Given the description of an element on the screen output the (x, y) to click on. 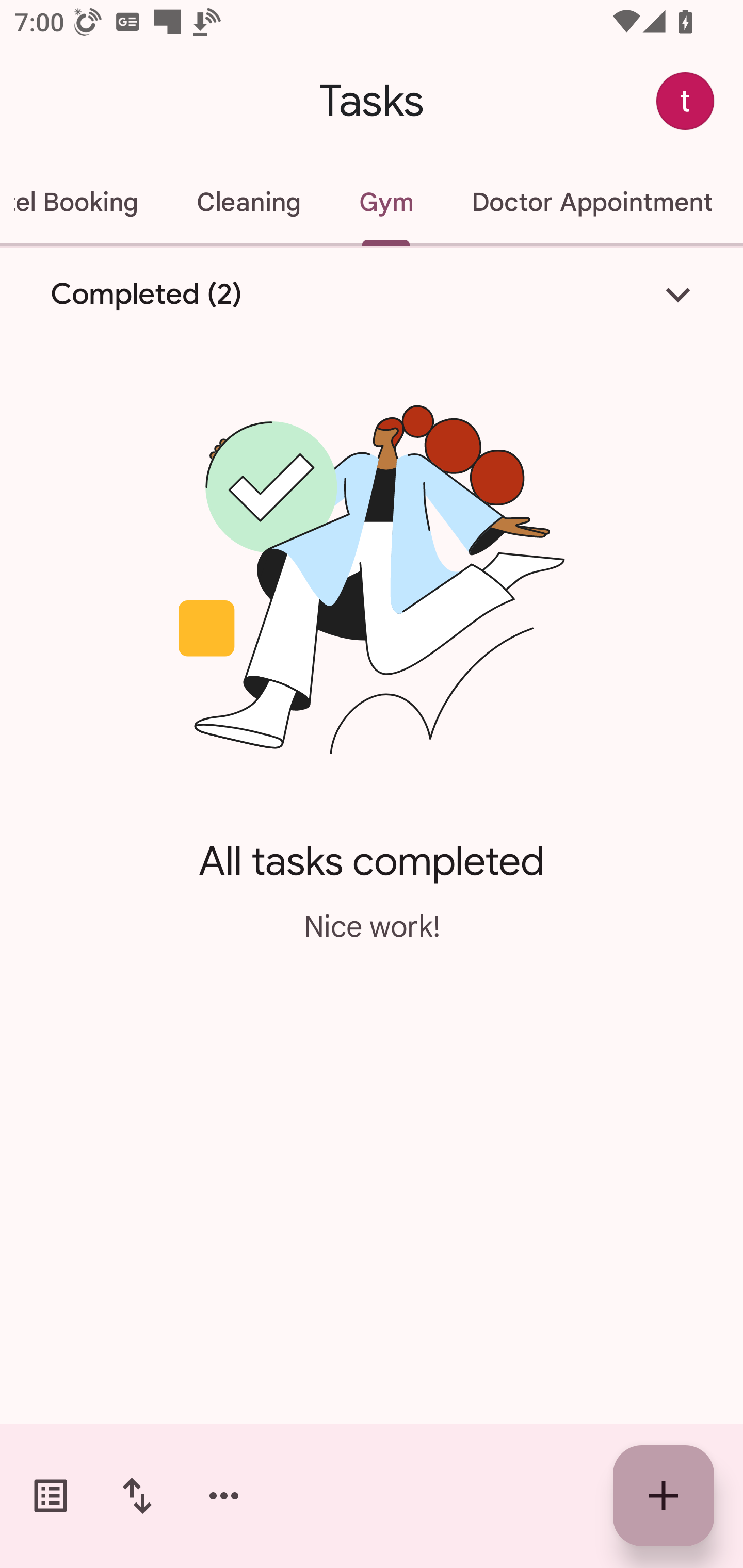
Cleaning (248, 202)
Doctor Appointment (591, 202)
Completed (2) (371, 294)
Switch task lists (50, 1495)
Create new task (663, 1495)
Change sort order (136, 1495)
More options (223, 1495)
